Given the description of an element on the screen output the (x, y) to click on. 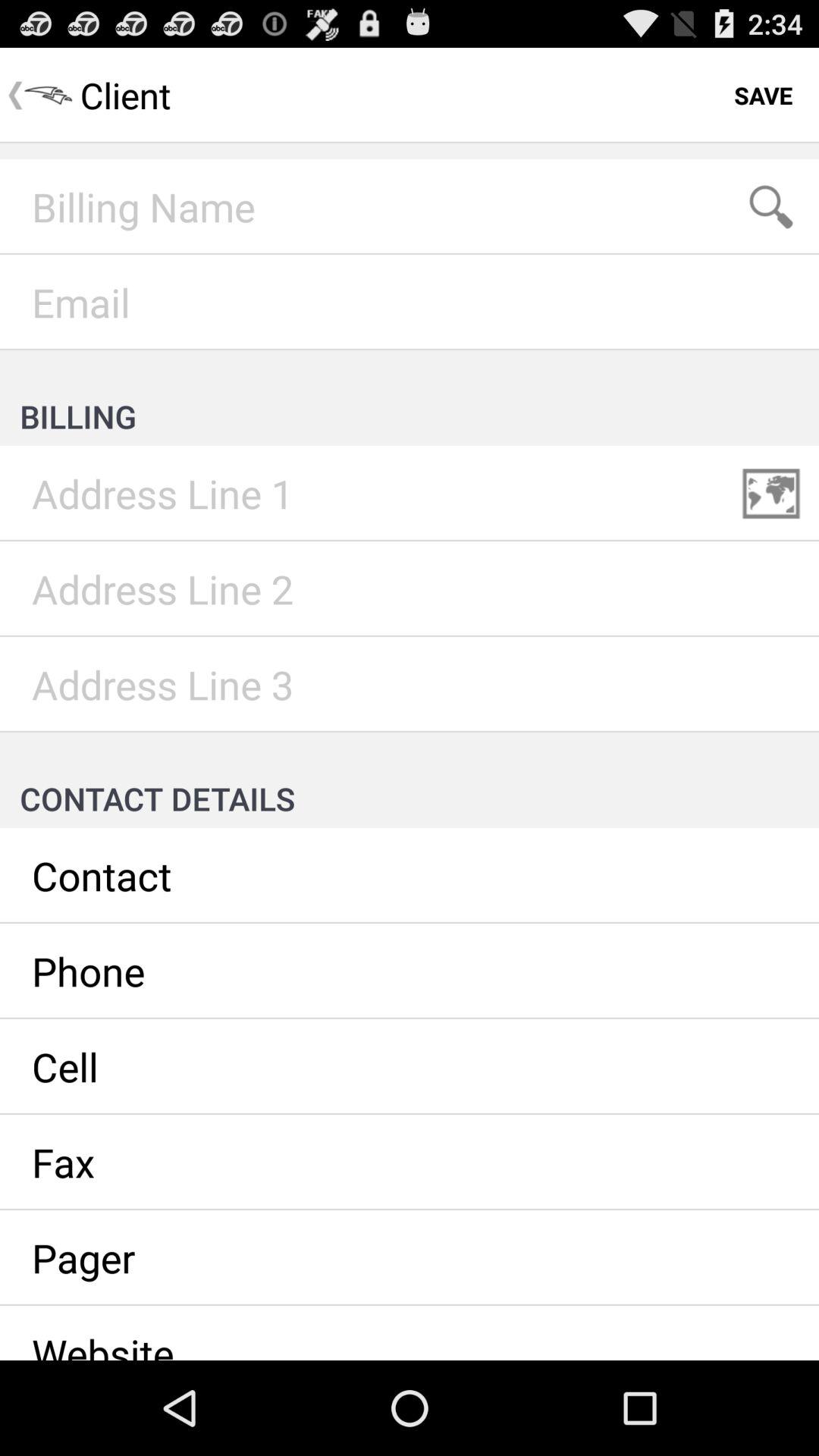
fill address line 3 (409, 684)
